Given the description of an element on the screen output the (x, y) to click on. 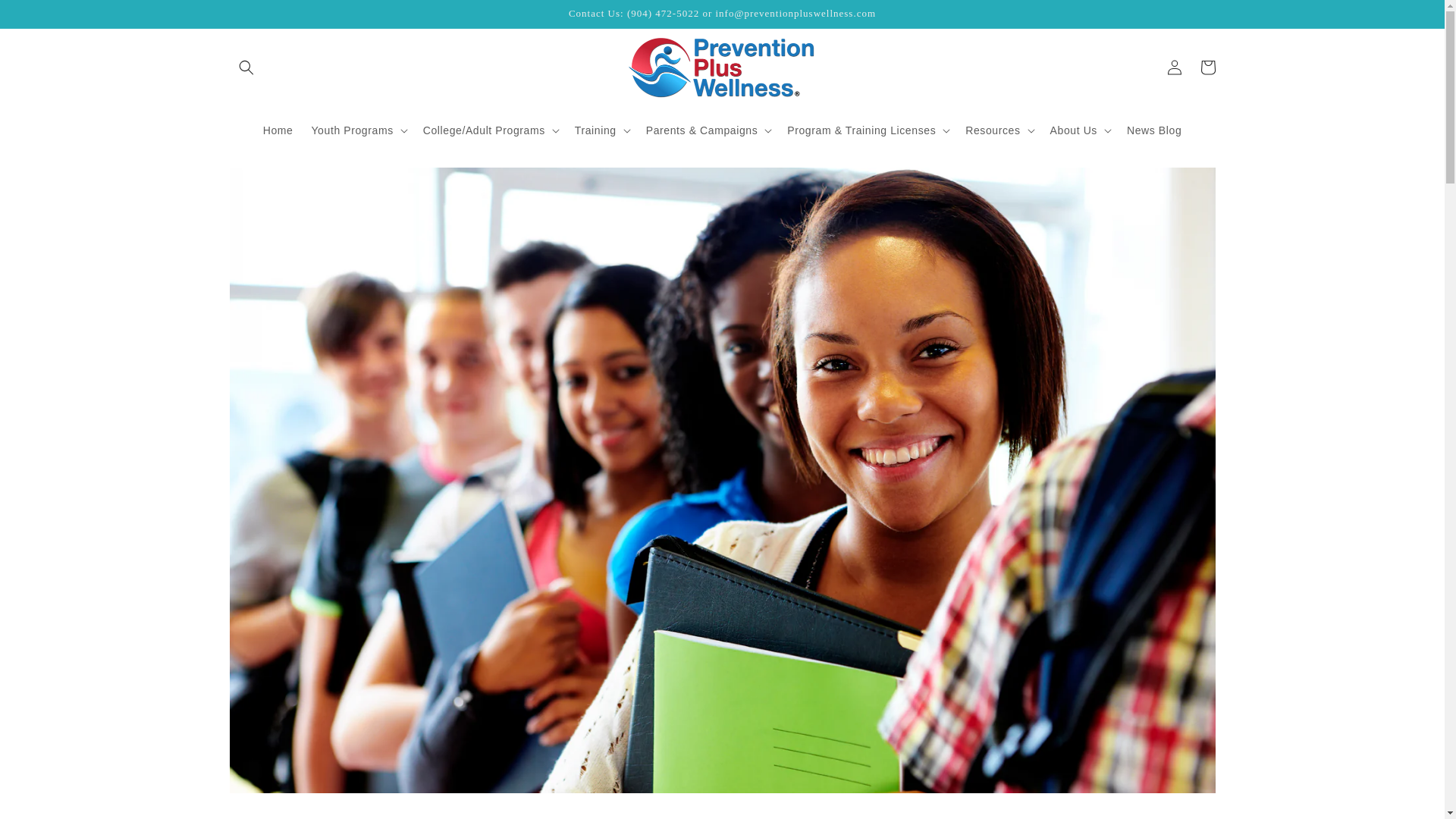
Skip to content (45, 17)
